Given the description of an element on the screen output the (x, y) to click on. 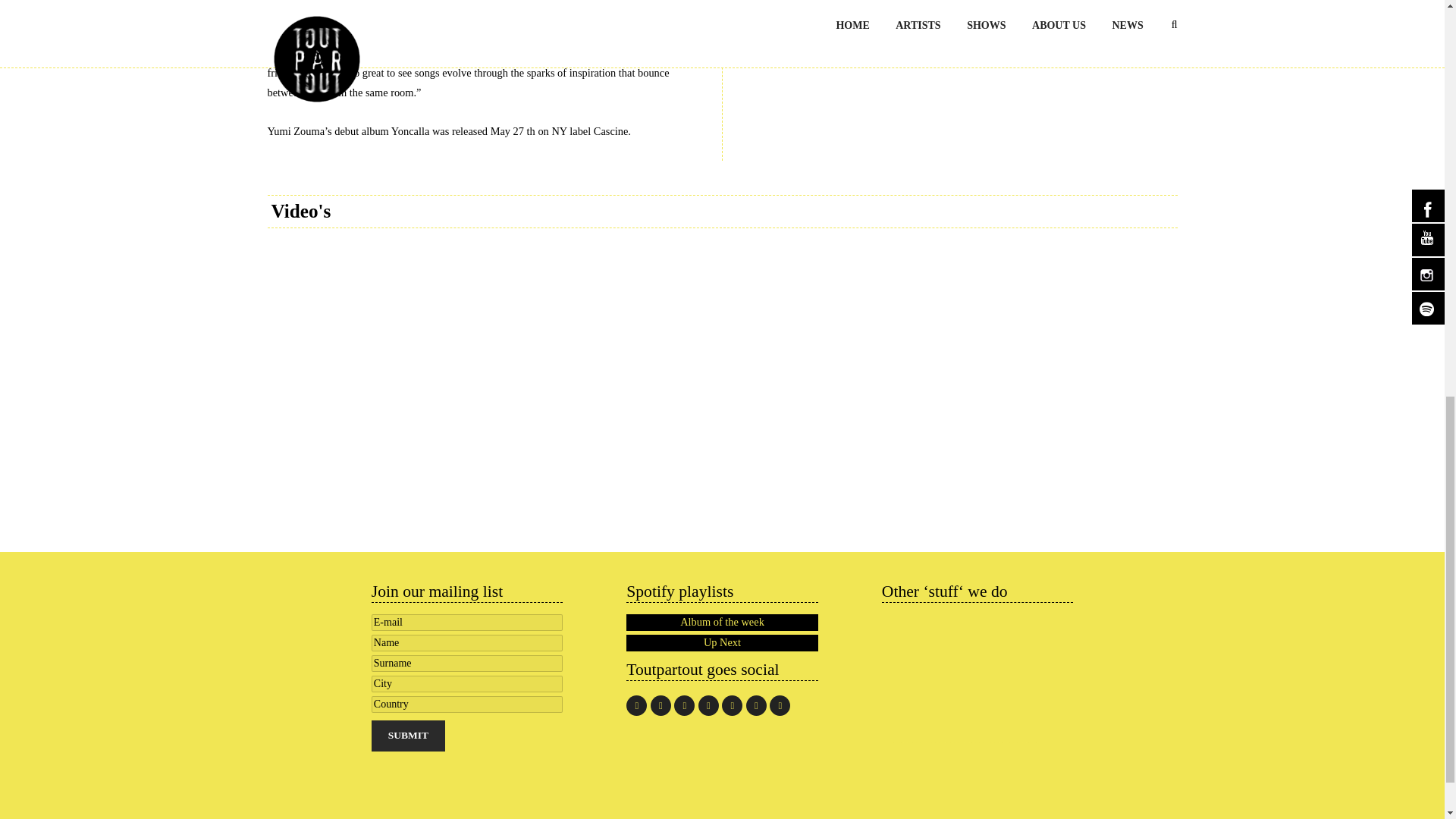
Country (466, 704)
Surname (466, 663)
Submit (408, 735)
City (466, 683)
Submit (408, 735)
E-mail (466, 622)
Album of the week (721, 622)
Up Next (721, 642)
Name (466, 642)
